Given the description of an element on the screen output the (x, y) to click on. 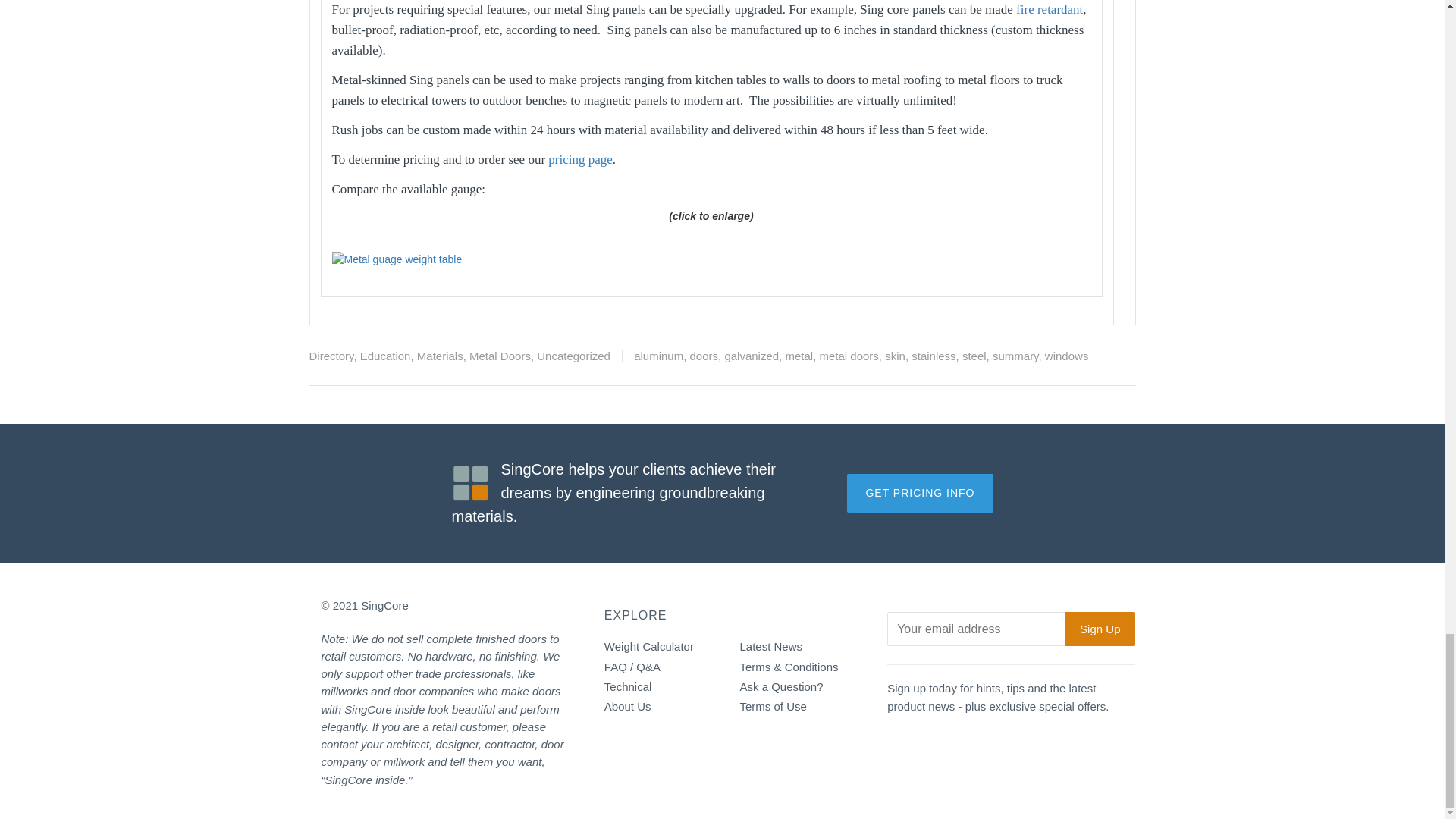
fireproof (1049, 9)
Sign up (1099, 628)
